Given the description of an element on the screen output the (x, y) to click on. 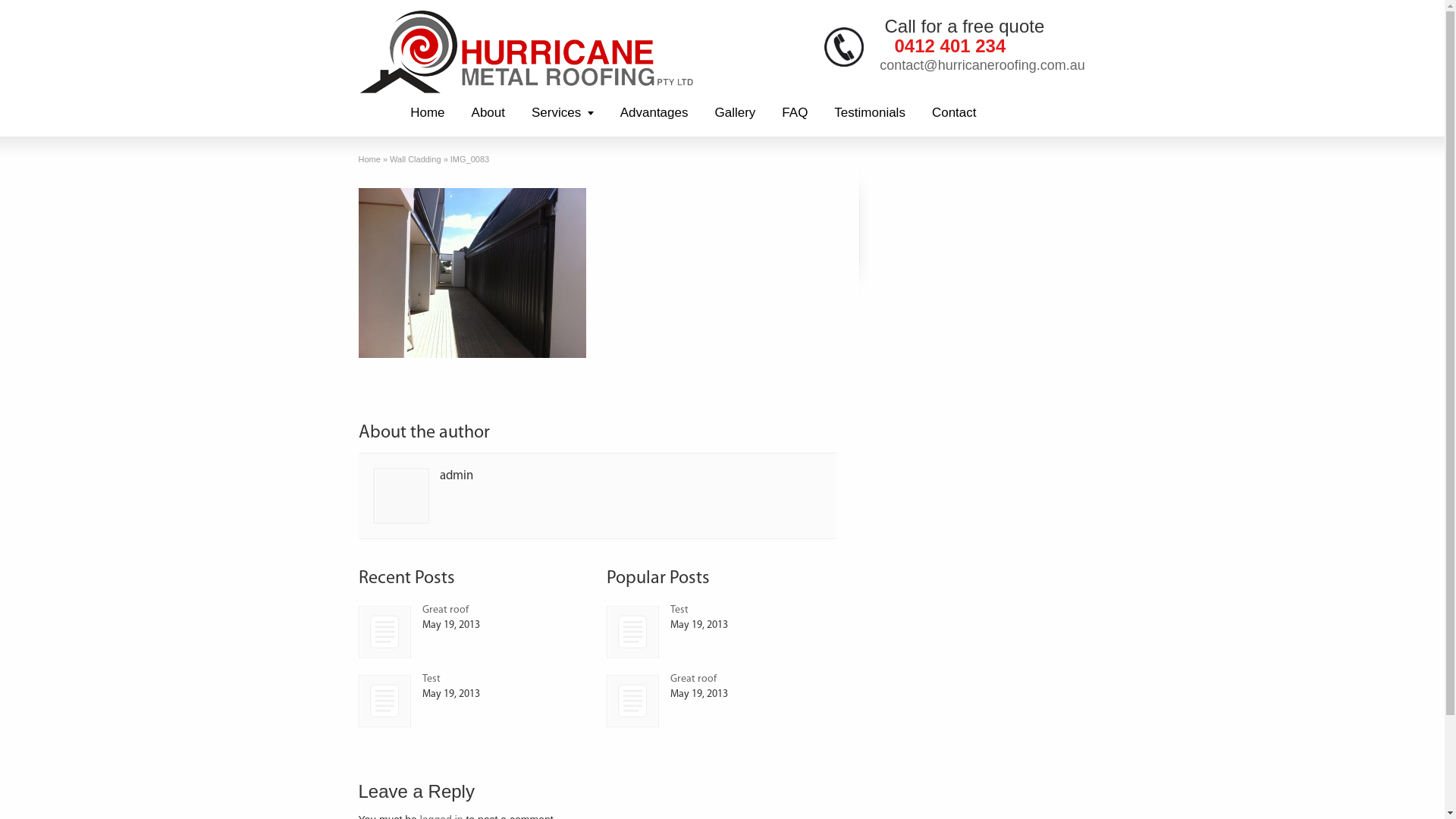
Services Element type: text (562, 112)
Great roof Element type: hover (384, 631)
Advantages Element type: text (653, 112)
Gallery Element type: text (734, 112)
Contact Element type: text (954, 112)
Test Element type: hover (632, 631)
Great roof Element type: hover (632, 700)
Test Element type: hover (383, 700)
FAQ Element type: text (794, 112)
Great roof Element type: hover (632, 700)
About Element type: text (488, 112)
Test Element type: text (430, 678)
Home Element type: text (426, 112)
Test Element type: hover (384, 700)
Wall Cladding Element type: text (414, 158)
Test Element type: hover (632, 631)
Great roof Element type: hover (383, 631)
Great roof Element type: text (693, 678)
Home Element type: text (368, 158)
0412 401 234 Element type: text (950, 45)
Great roof Element type: text (444, 609)
Test Element type: text (679, 609)
contact@hurricaneroofing.com.au Element type: text (981, 64)
Testimonials Element type: text (869, 112)
